Given the description of an element on the screen output the (x, y) to click on. 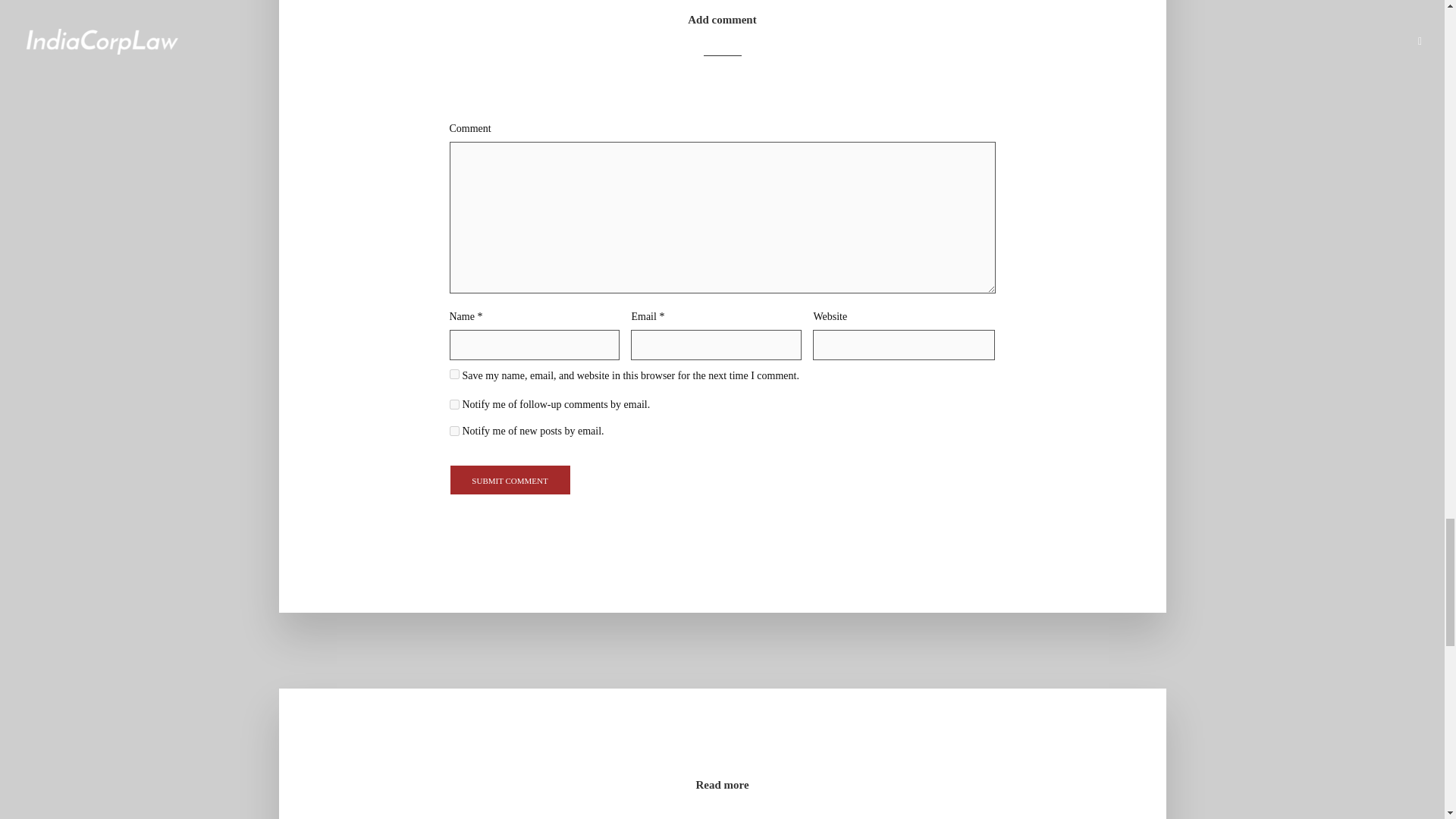
Submit Comment (509, 480)
subscribe (453, 404)
Submit Comment (509, 480)
yes (453, 374)
subscribe (453, 430)
